Given the description of an element on the screen output the (x, y) to click on. 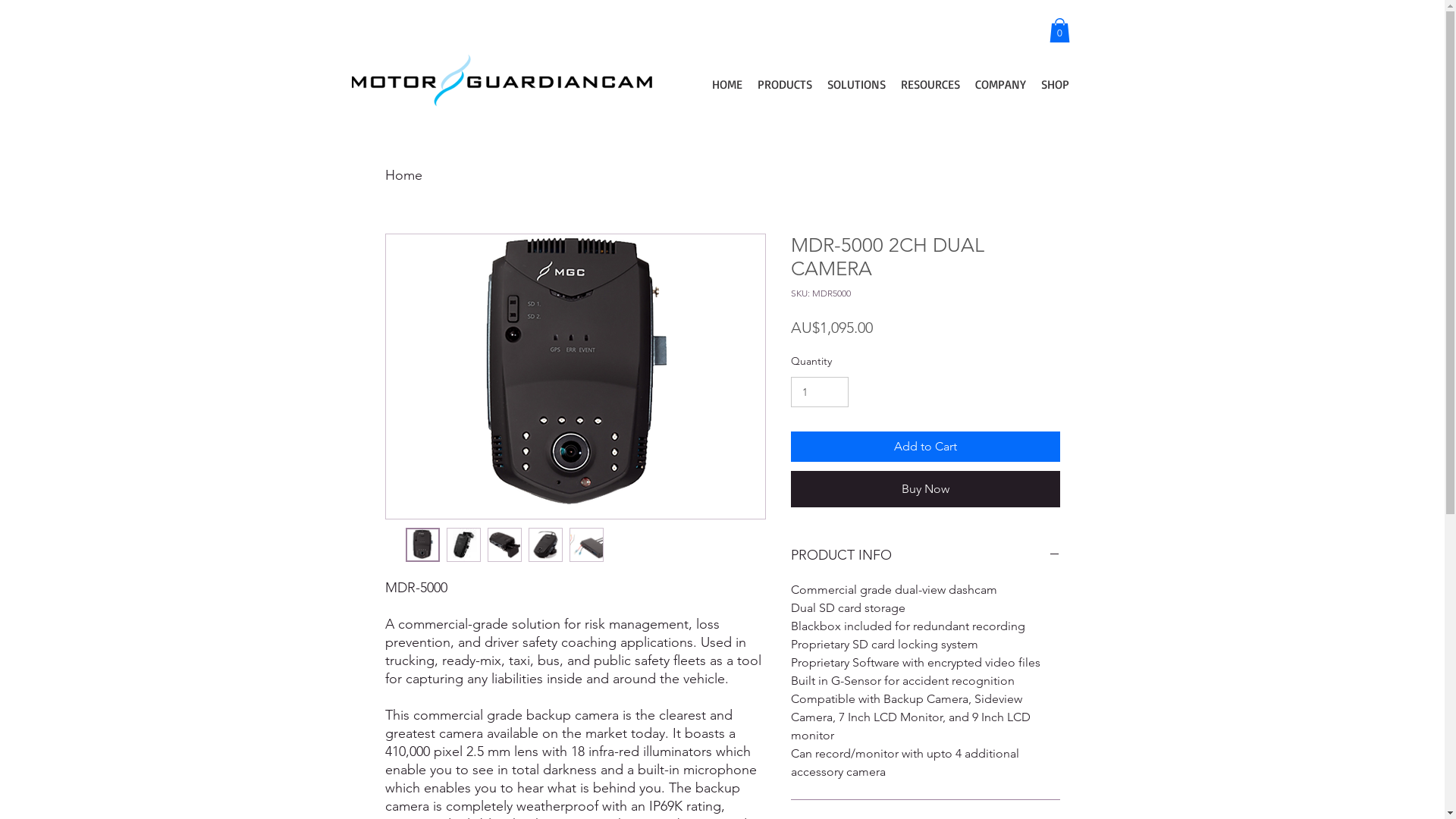
HOME Element type: text (726, 83)
Add to Cart Element type: text (924, 446)
Buy Now Element type: text (924, 488)
PRODUCT INFO Element type: text (924, 555)
0 Element type: text (1059, 30)
Home Element type: text (403, 174)
